Given the description of an element on the screen output the (x, y) to click on. 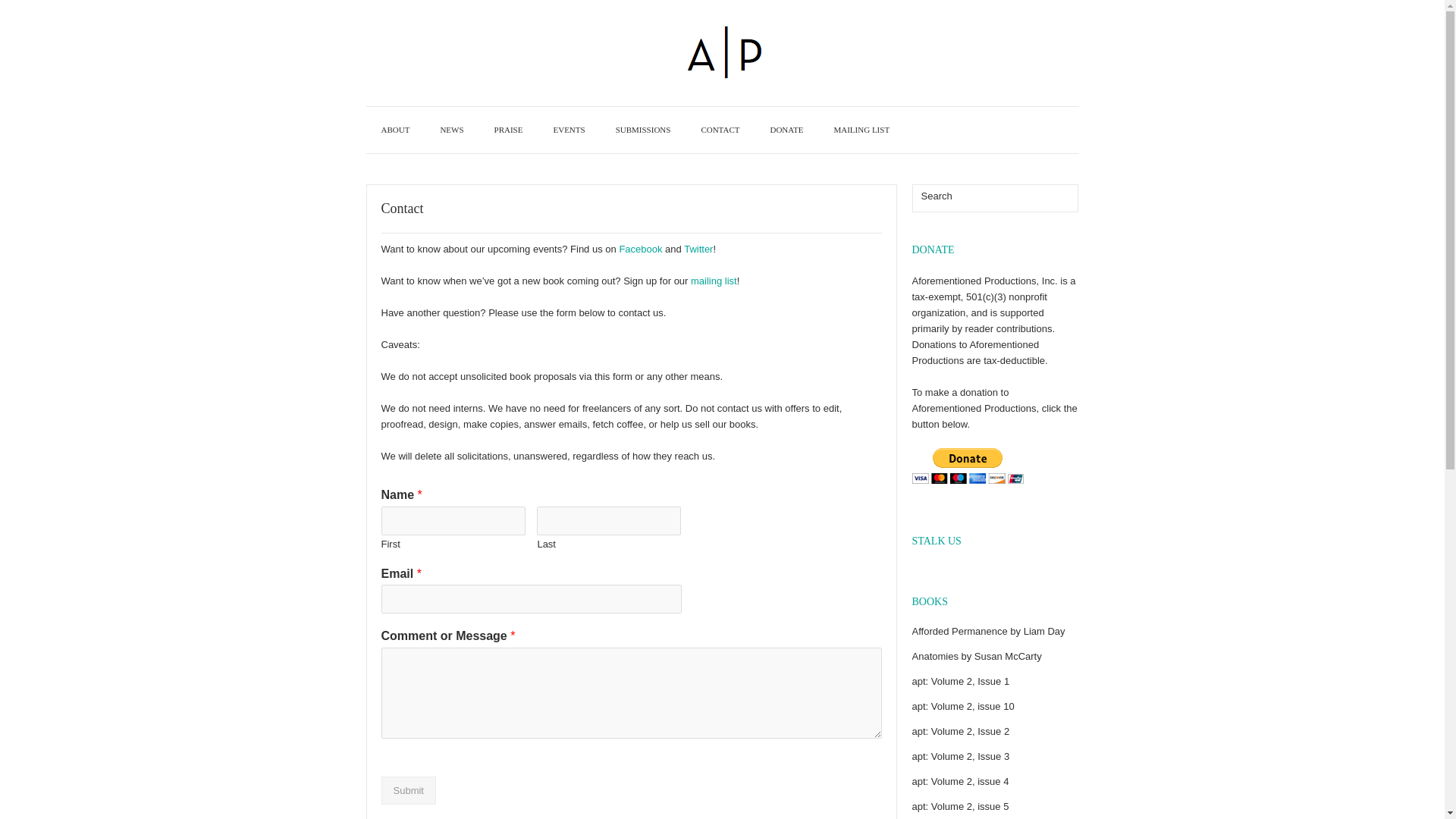
apt: Volume 2, Issue 1 (960, 681)
CONTACT (719, 130)
apt: Volume 2, issue 10 (962, 706)
EVENTS (568, 130)
NEWS (452, 130)
DONATE (786, 130)
apt: Volume 2, Issue 3 (960, 756)
Search (1064, 197)
PRAISE (508, 130)
Afforded Permanence by Liam Day (987, 631)
